Given the description of an element on the screen output the (x, y) to click on. 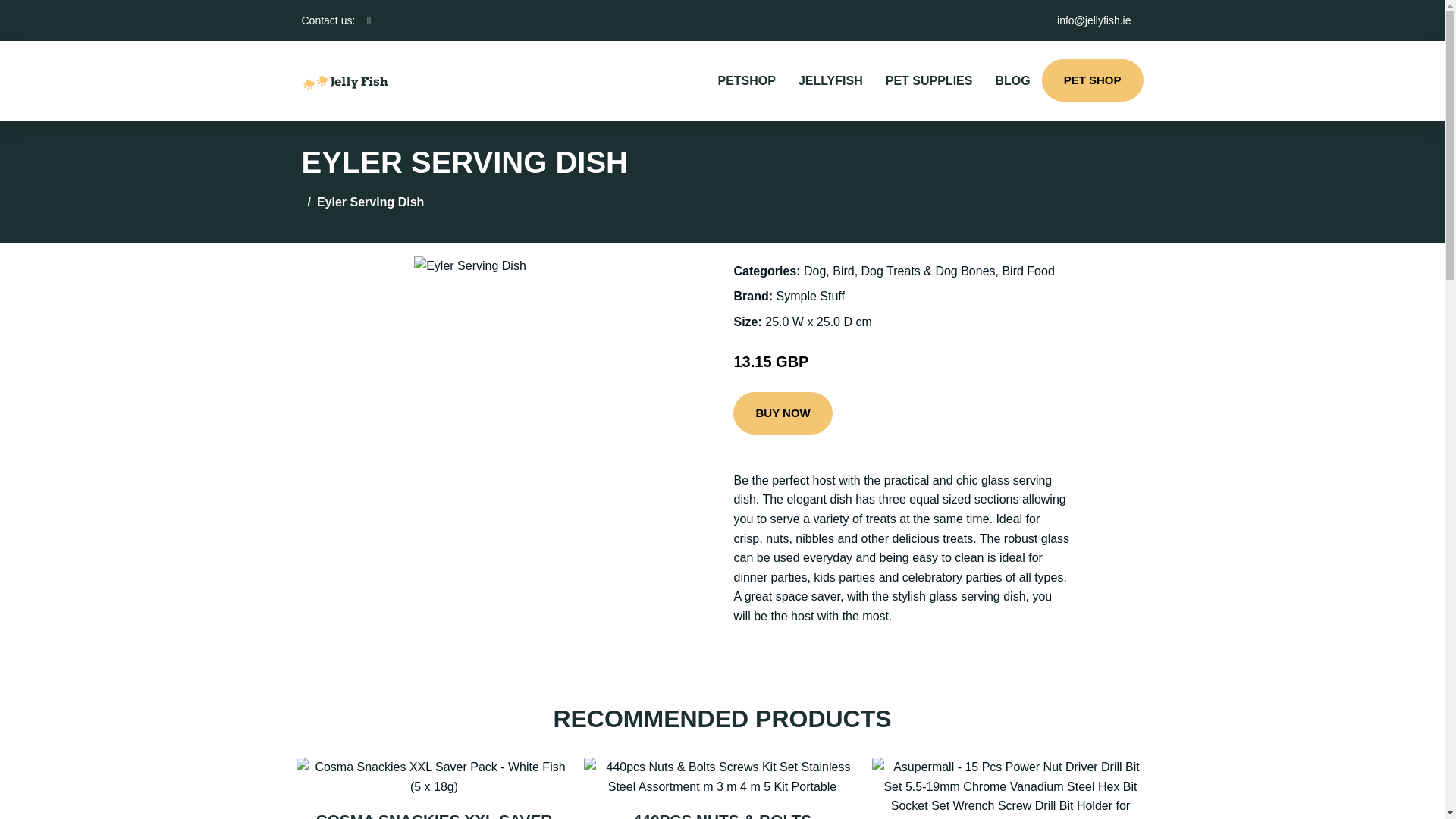
JELLYFISH (831, 80)
Bird (842, 270)
PET SUPPLIES (929, 80)
Dog (814, 270)
PET SHOP (1092, 79)
Bird Food (1027, 270)
PETSHOP (746, 80)
BUY NOW (782, 413)
